Given the description of an element on the screen output the (x, y) to click on. 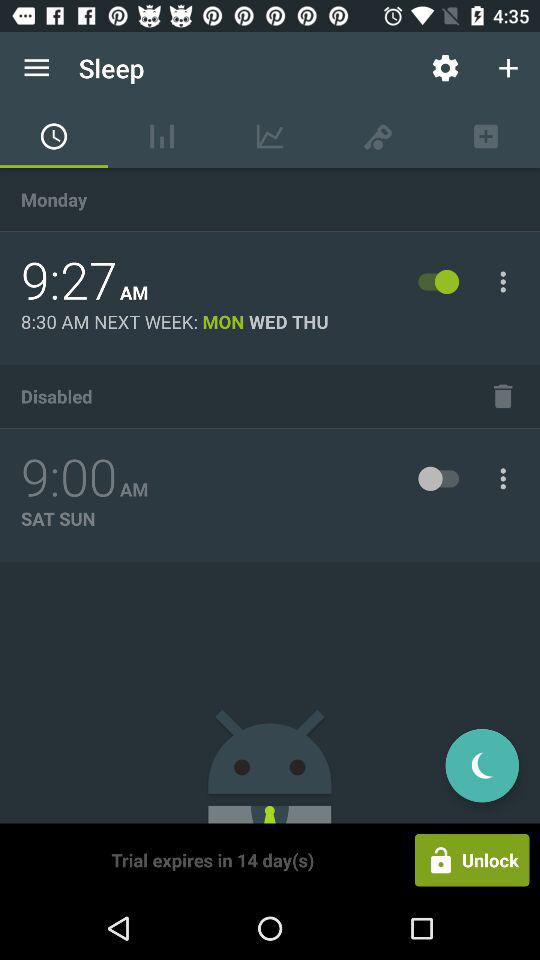
choose the icon to the right of sleep icon (444, 67)
